Given the description of an element on the screen output the (x, y) to click on. 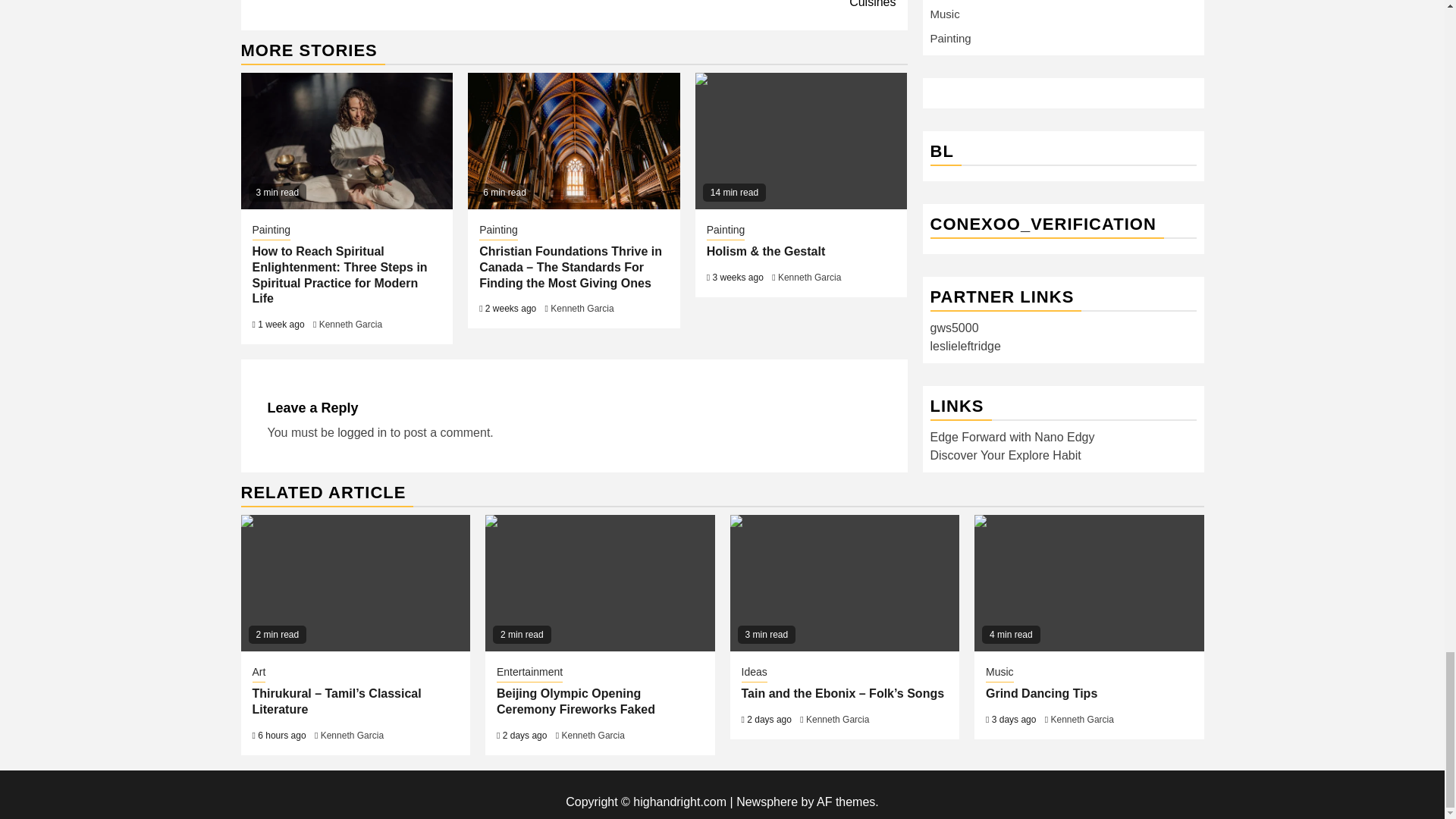
Painting (270, 230)
Painting (725, 230)
Kenneth Garcia (809, 276)
Painting (498, 230)
Grind Dancing Tips (1089, 583)
Kenneth Garcia (349, 324)
Beijing Olympic Opening Ceremony Fireworks Faked (599, 583)
logged in (362, 431)
Kenneth Garcia (581, 308)
